Given the description of an element on the screen output the (x, y) to click on. 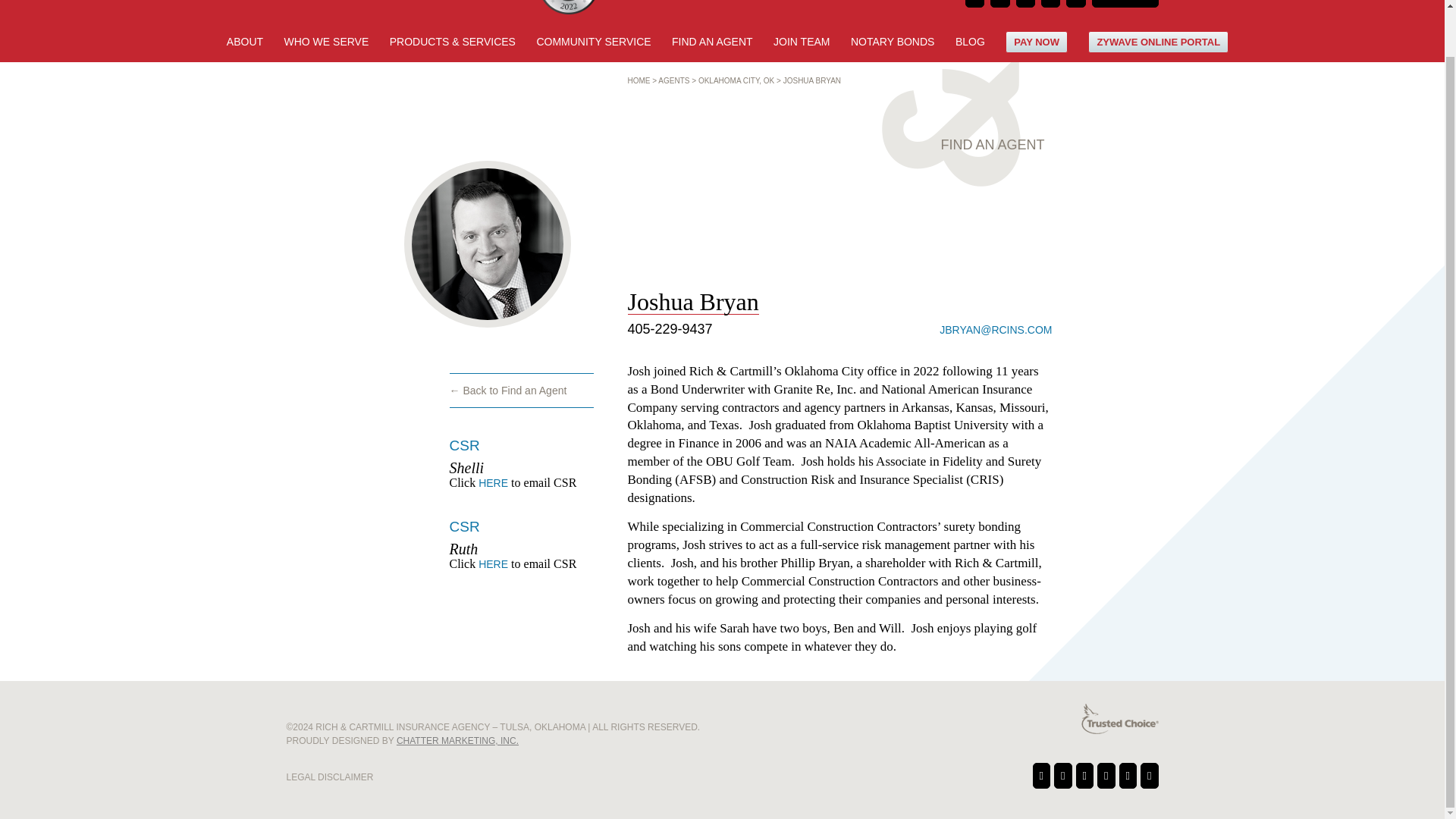
Go to the Oklahoma City, OK City archives. (736, 80)
Go to Agents. (673, 80)
